Given the description of an element on the screen output the (x, y) to click on. 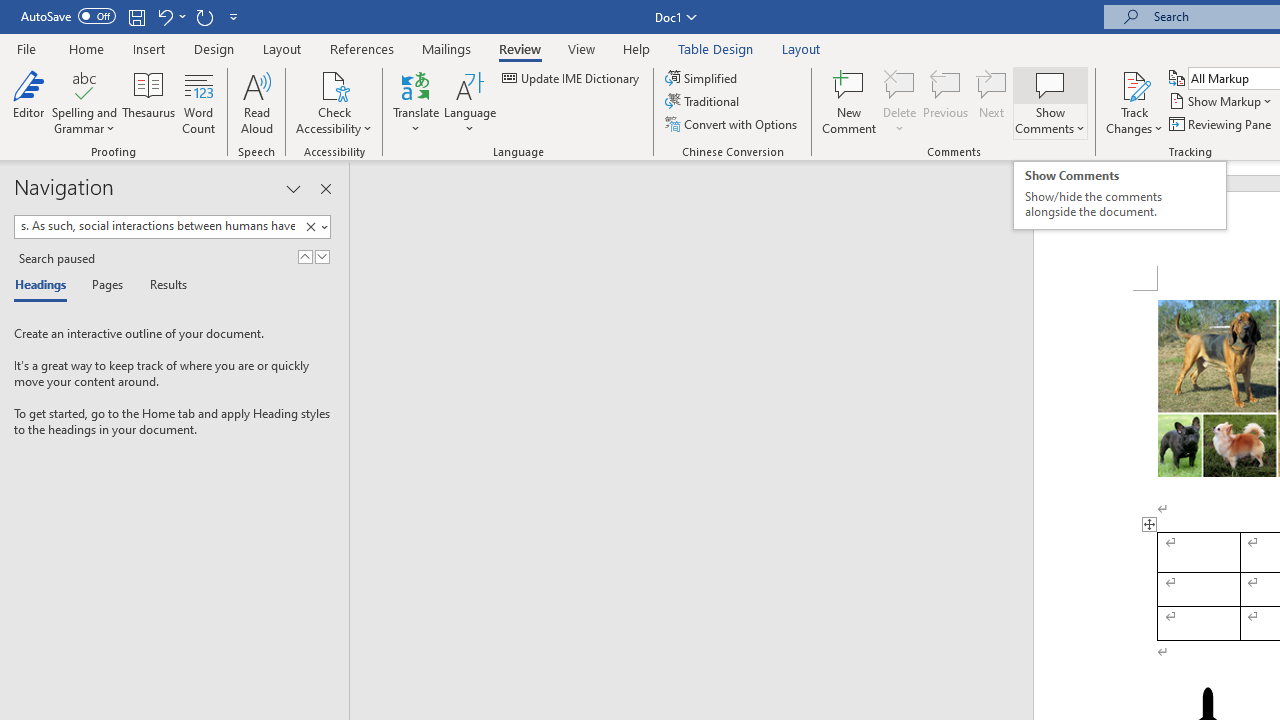
Pages (105, 285)
Table Design (715, 48)
Update IME Dictionary... (572, 78)
Show Comments (1050, 102)
Next Result (322, 256)
Thesaurus... (148, 102)
Search document (157, 226)
Repeat Style (204, 15)
